Given the description of an element on the screen output the (x, y) to click on. 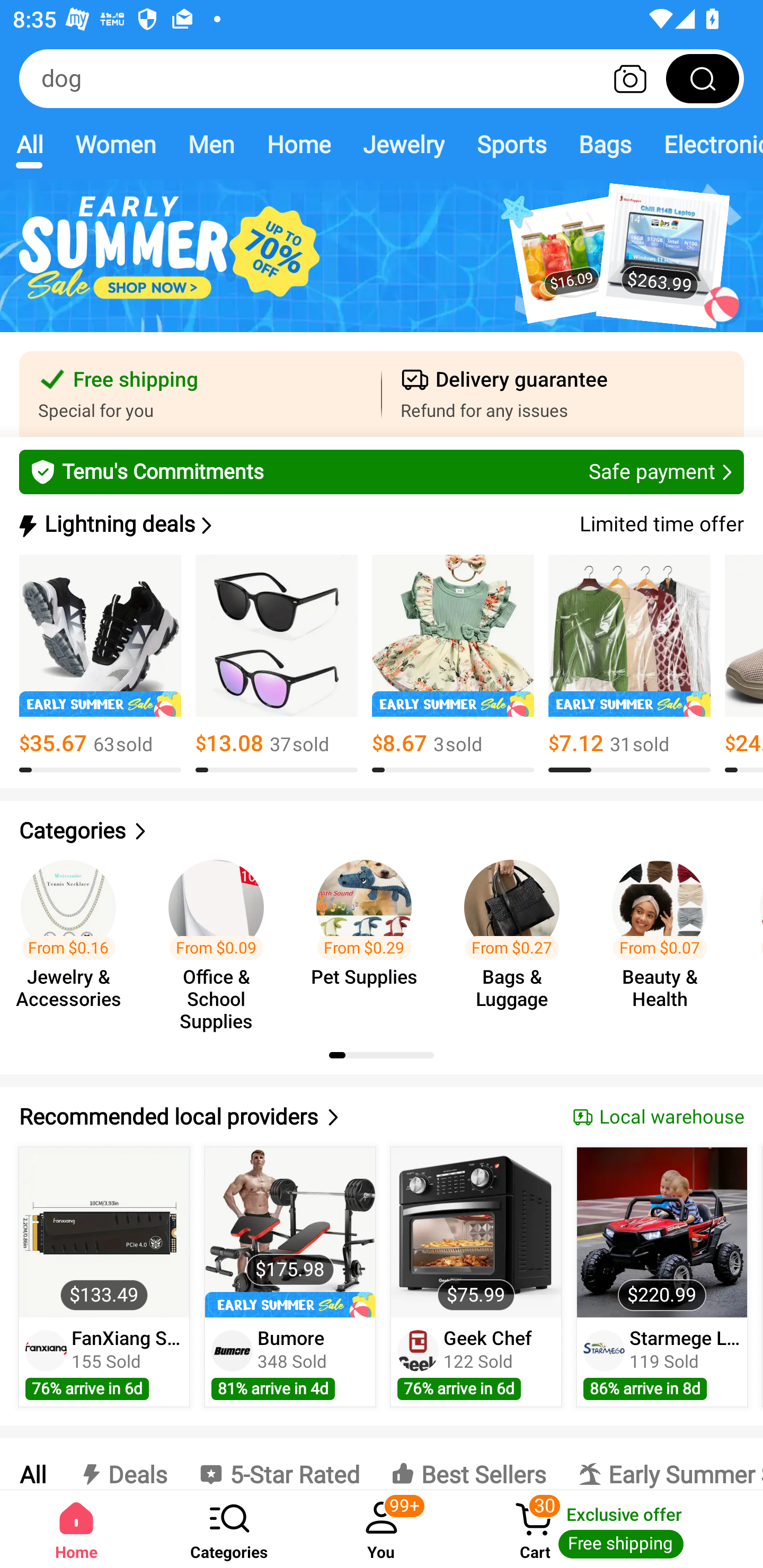
dog (381, 78)
All (29, 144)
Women (115, 144)
Men (211, 144)
Home (298, 144)
Jewelry (403, 144)
Sports (511, 144)
Bags (605, 144)
Electronics (705, 144)
$16.09 $263.99 (381, 265)
Free shipping Special for you (200, 394)
Delivery guarantee Refund for any issues (562, 394)
Temu's Commitments (381, 471)
Lightning deals Lightning deals Limited time offer (379, 524)
$35.67 63￼sold 8.0 (100, 664)
$13.08 37￼sold 8.0 (276, 664)
$8.67 3￼sold 8.0 (453, 664)
$7.12 31￼sold 27.0 (629, 664)
